Given the description of an element on the screen output the (x, y) to click on. 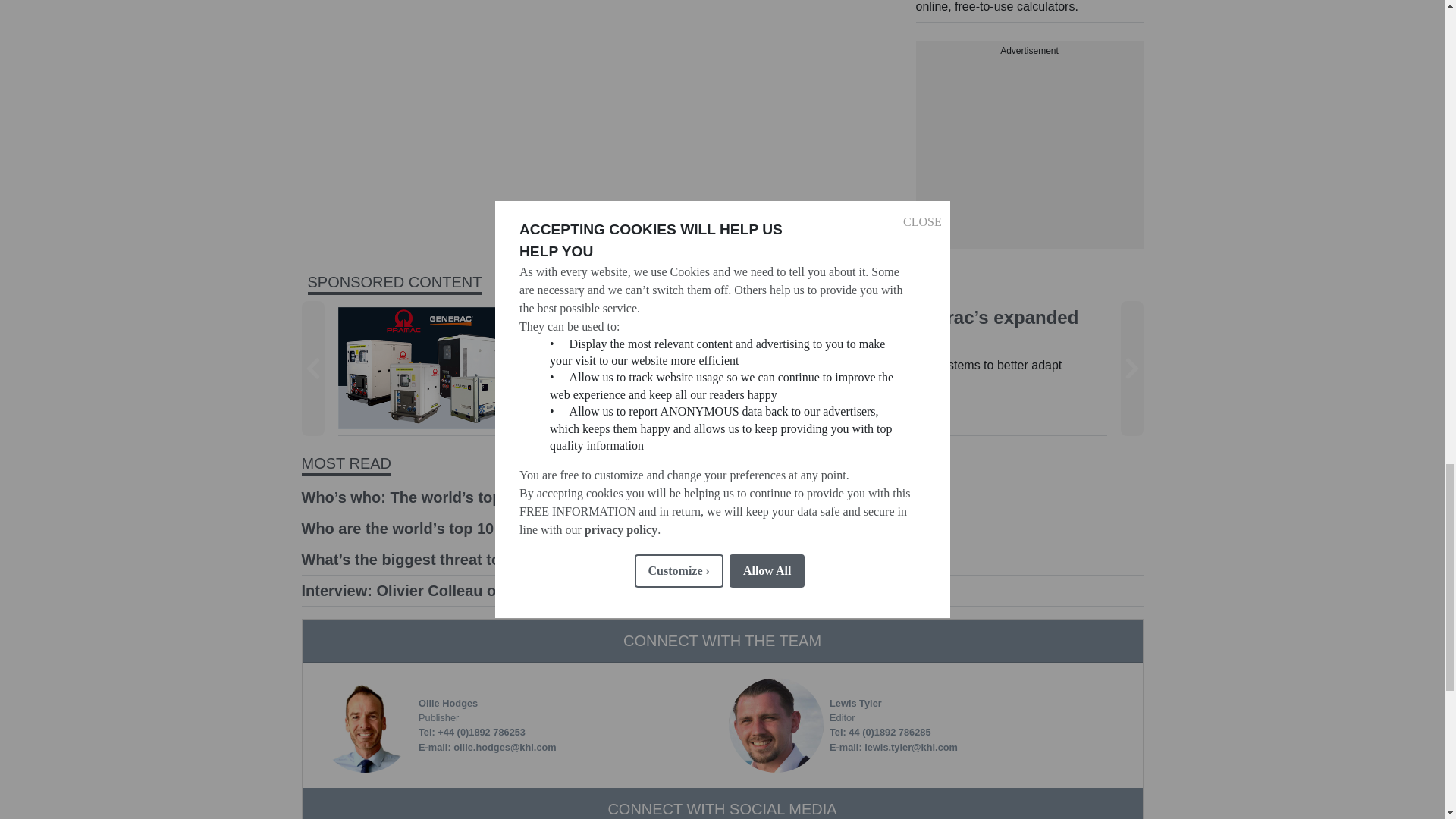
3rd party ad content (1028, 153)
